Given the description of an element on the screen output the (x, y) to click on. 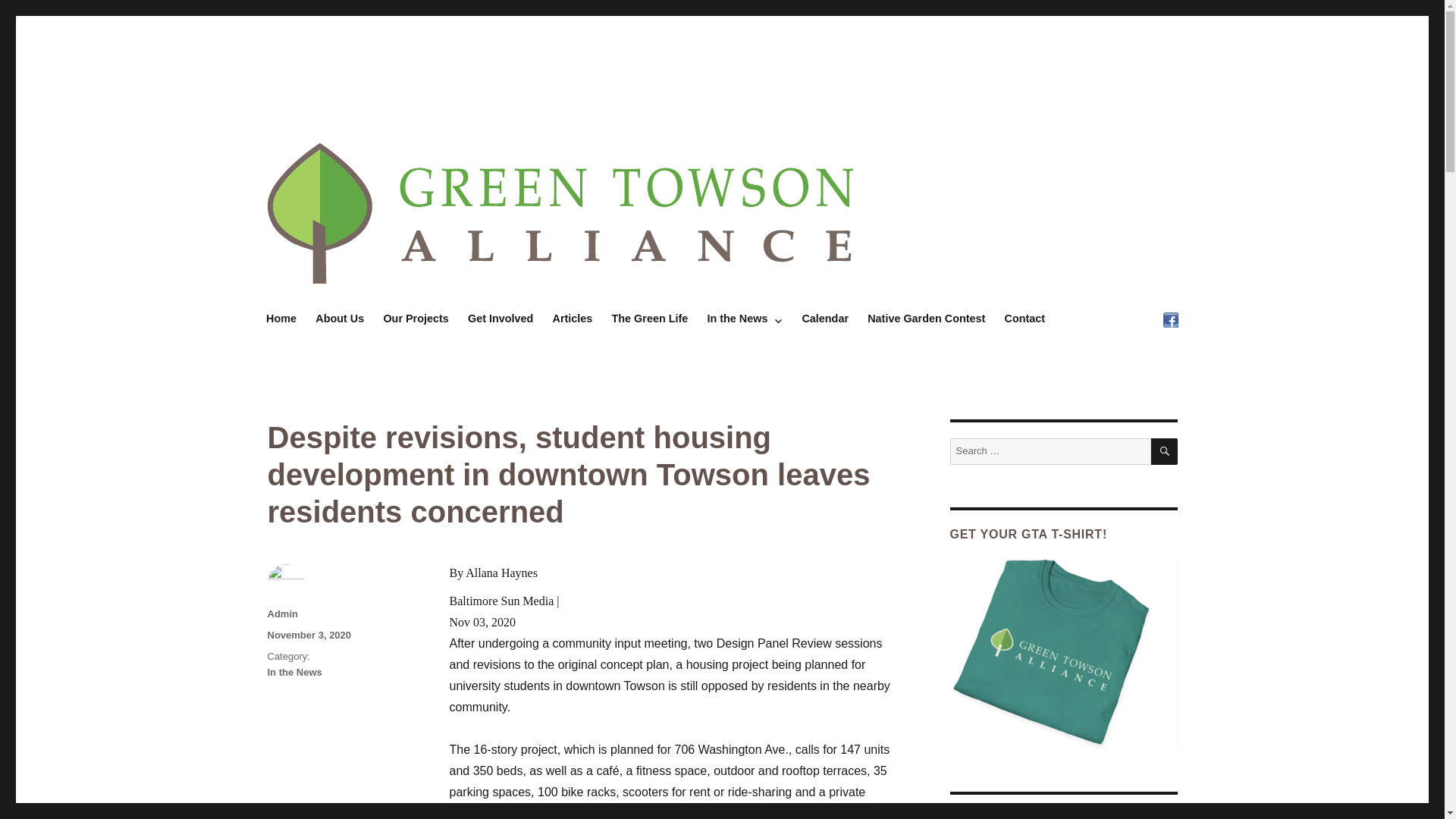
Green Towson Alliance (382, 114)
Home (280, 318)
SEARCH (1164, 451)
Articles (572, 318)
Calendar (825, 318)
In the News (744, 318)
Contact (1024, 318)
Admin (281, 613)
Follow us on Facebook (1170, 319)
November 3, 2020 (308, 634)
Our Projects (416, 318)
Back to the top (992, 816)
About Us (339, 318)
Get Involved (500, 318)
Native Garden Contest (926, 318)
